Given the description of an element on the screen output the (x, y) to click on. 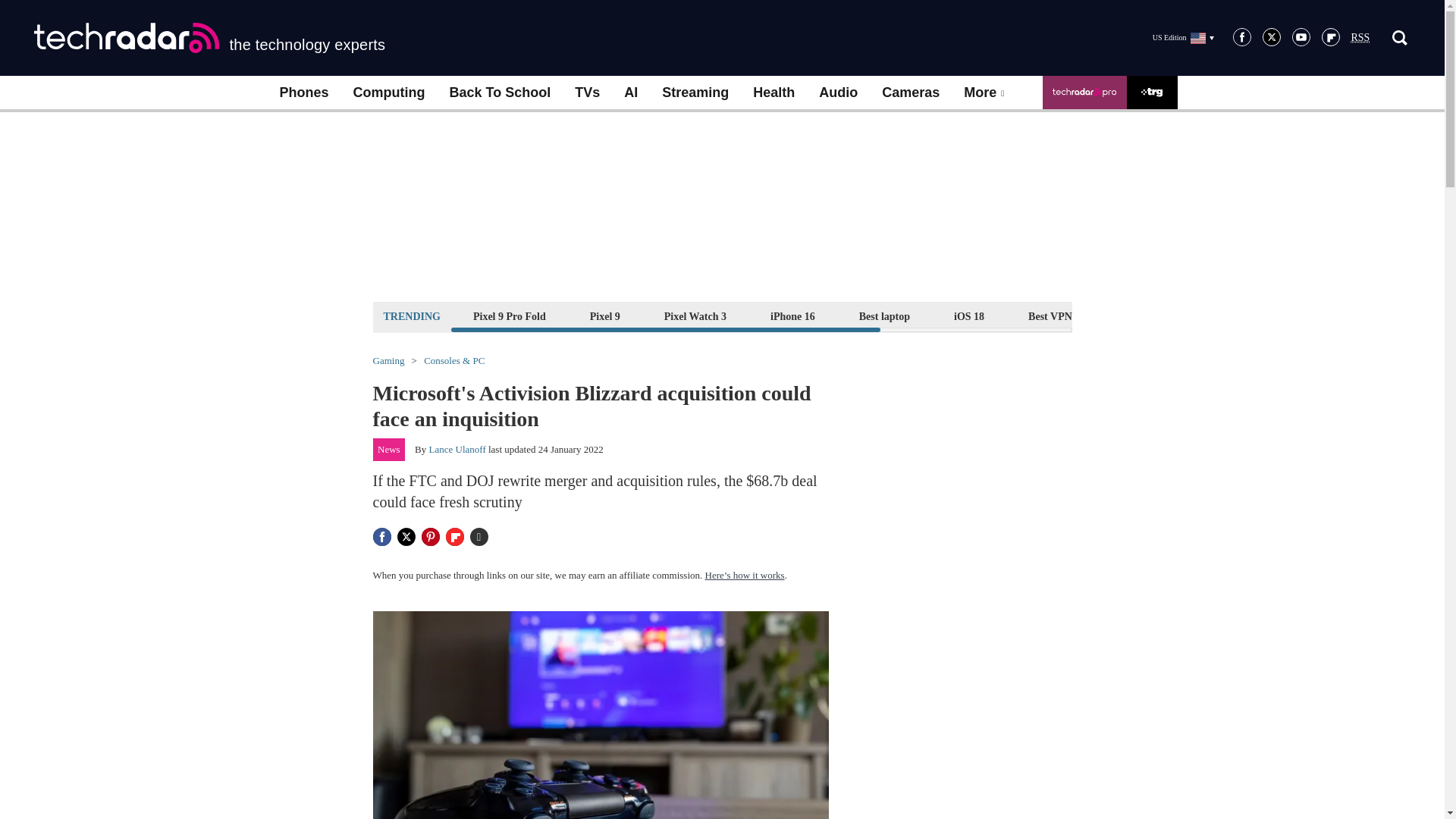
US Edition (1182, 37)
Really Simple Syndication (1360, 37)
AI (630, 92)
Computing (389, 92)
Streaming (695, 92)
the technology experts (209, 38)
Phones (303, 92)
Audio (837, 92)
Back To School (499, 92)
Cameras (910, 92)
